Given the description of an element on the screen output the (x, y) to click on. 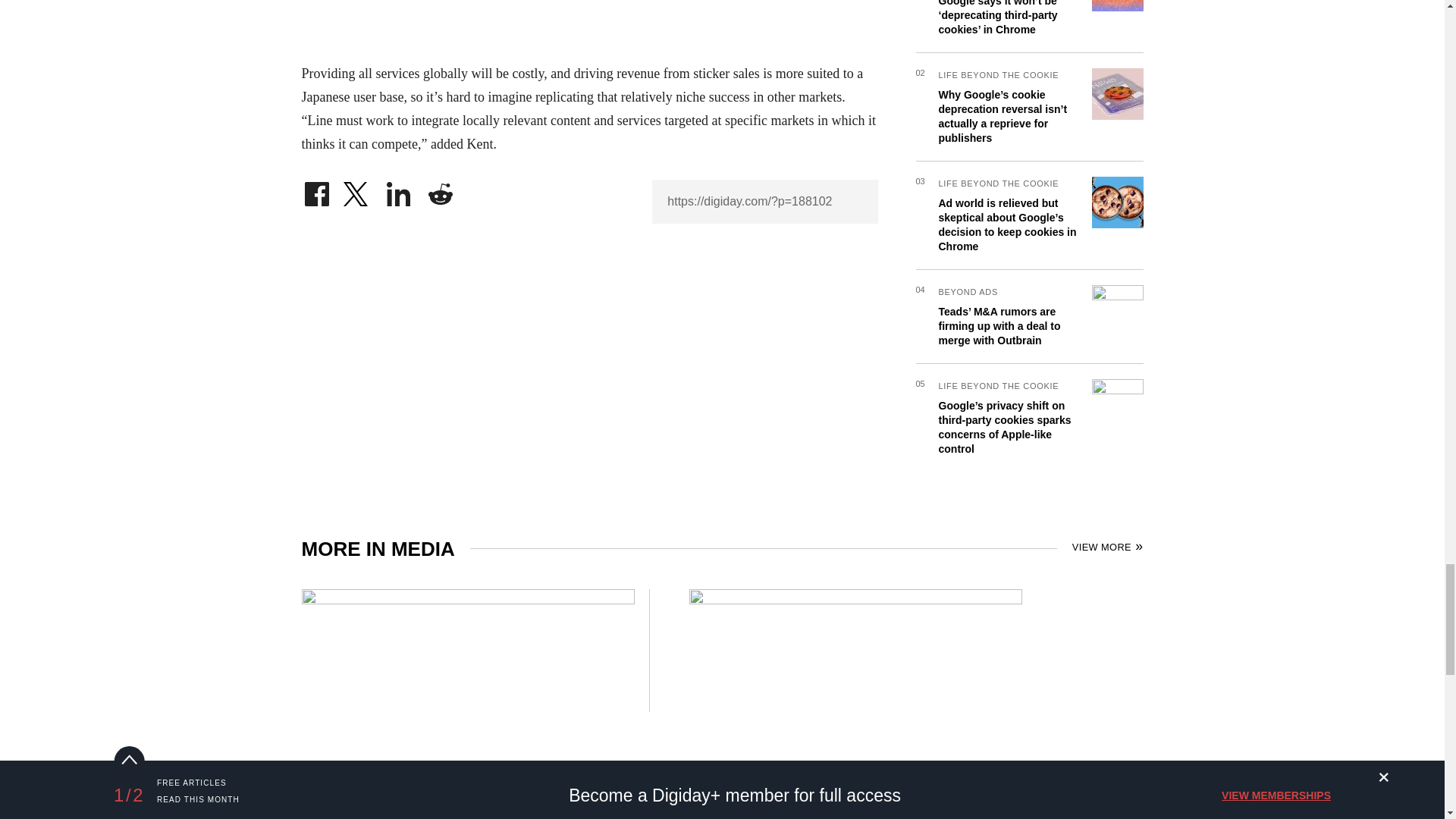
Share on Twitter (357, 190)
Share on Facebook (316, 190)
Share on LinkedIn (398, 190)
Share on Reddit (440, 190)
